Given the description of an element on the screen output the (x, y) to click on. 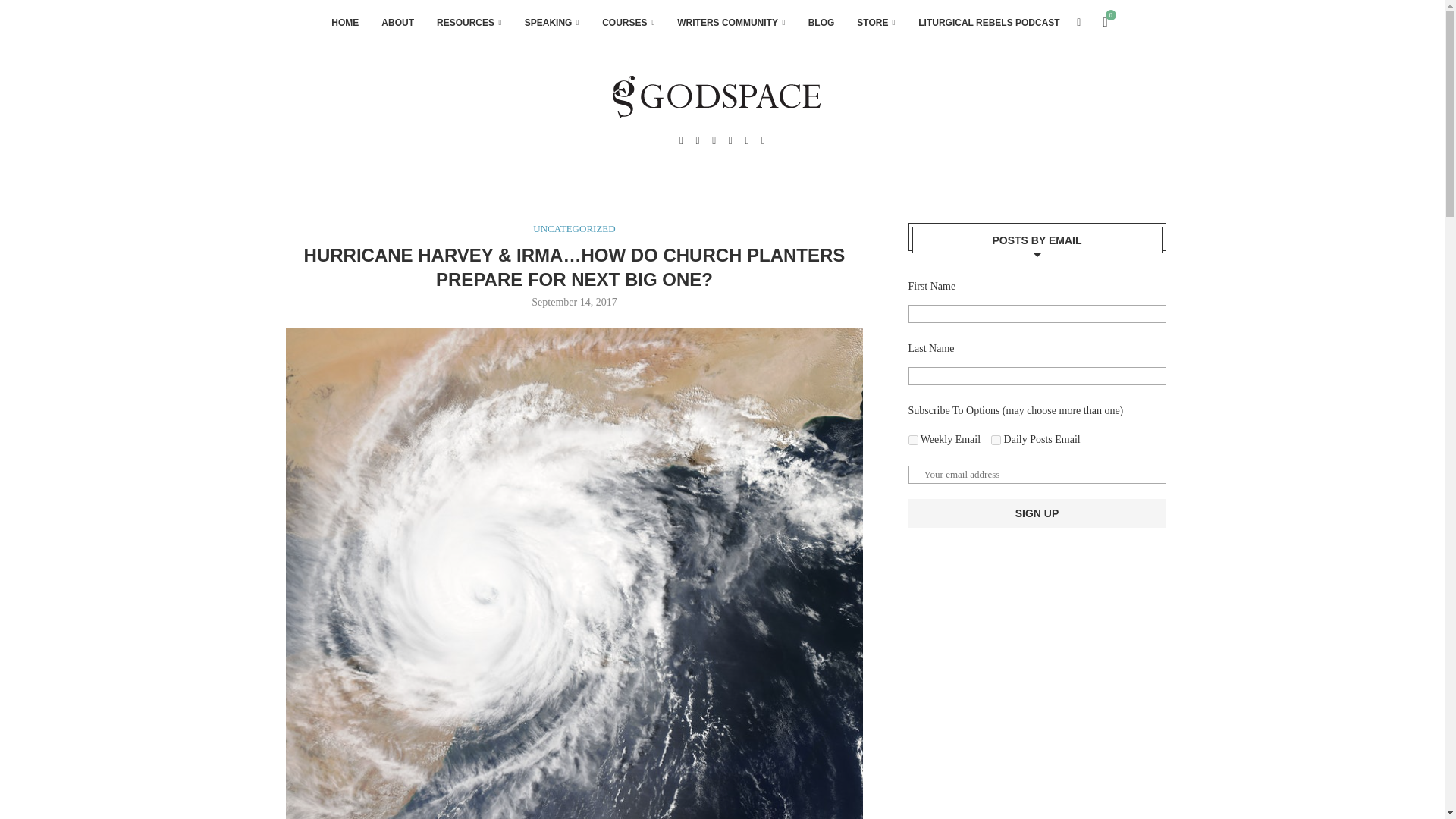
COURSES (627, 22)
53090618e5 (996, 439)
Sign up (1037, 512)
LITURGICAL REBELS PODCAST (988, 22)
7316919972 (913, 439)
SPEAKING (551, 22)
WRITERS COMMUNITY (730, 22)
RESOURCES (469, 22)
